Given the description of an element on the screen output the (x, y) to click on. 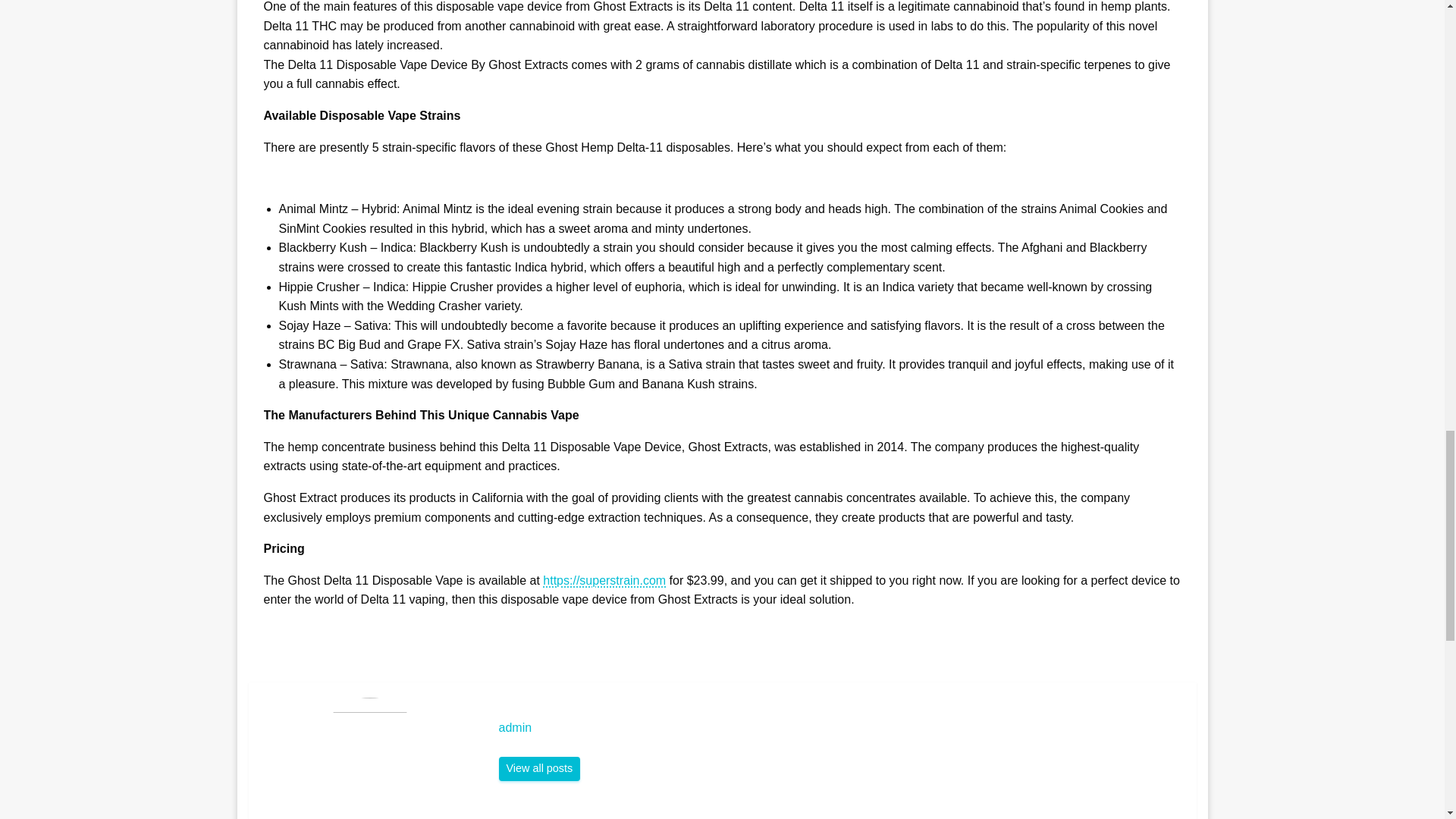
admin (839, 727)
admin (539, 768)
View all posts (539, 768)
admin (839, 727)
